Given the description of an element on the screen output the (x, y) to click on. 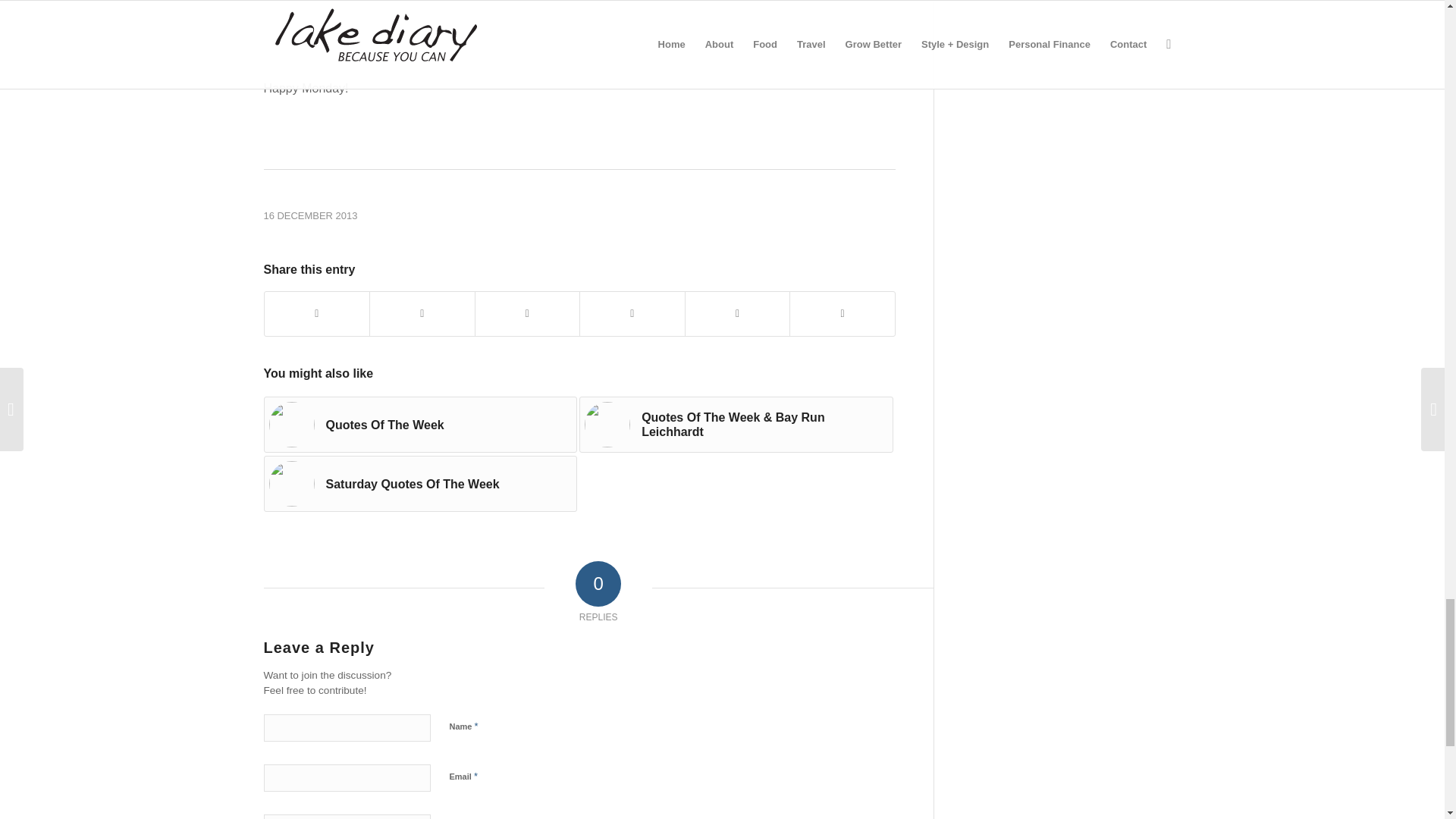
funny  (579, 33)
